Given the description of an element on the screen output the (x, y) to click on. 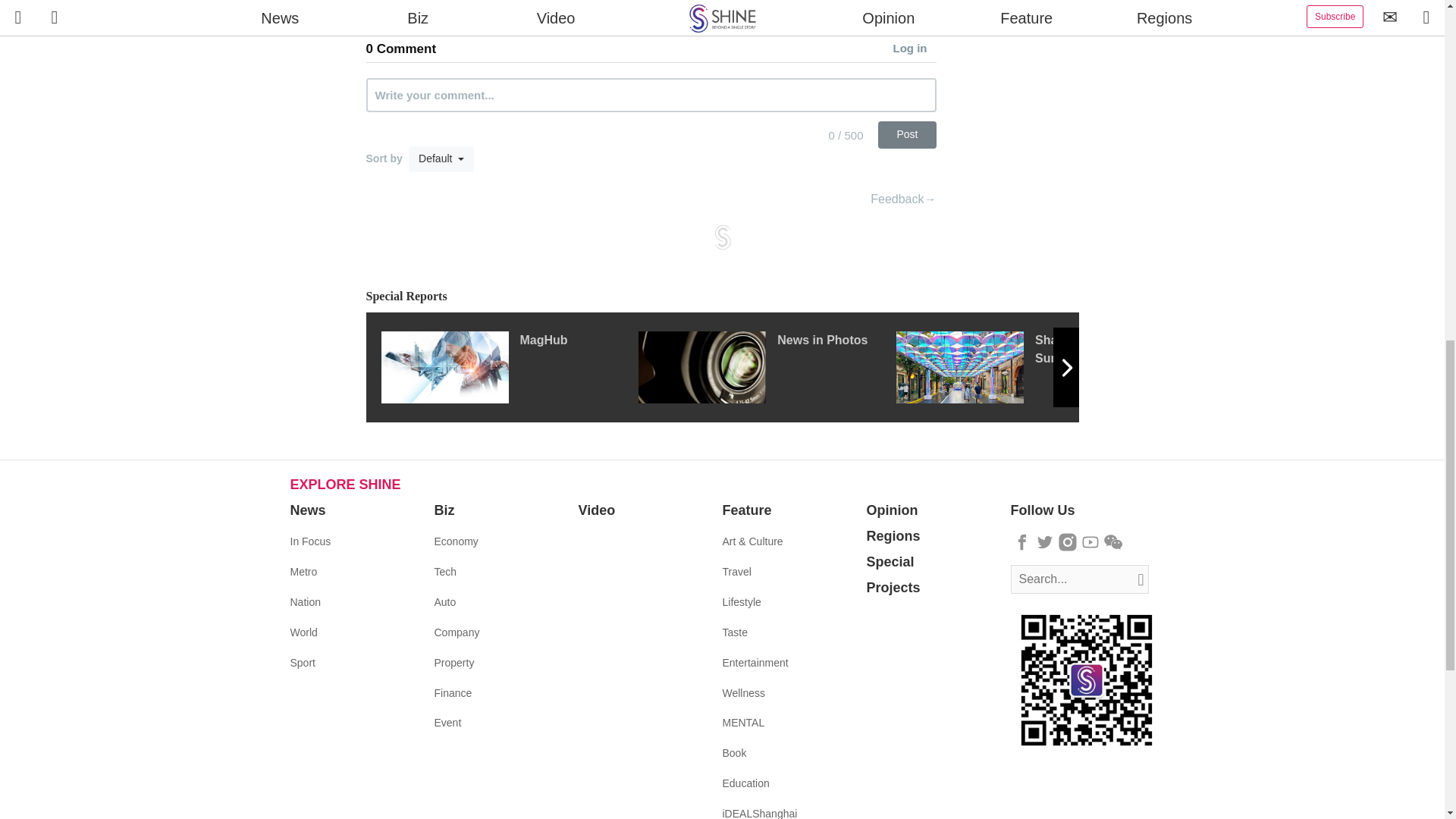
Follow us on Twitter (1044, 542)
MagHub (508, 366)
Shanghai Summer (1024, 366)
Special Reports (721, 296)
Default   (441, 158)
News in Photos (767, 366)
Log in (914, 49)
Follow us on Instagram (1067, 542)
Follow us on Facebook (1021, 542)
Follow us on Youtube (1090, 542)
Follow us on Wechat (1112, 542)
